Given the description of an element on the screen output the (x, y) to click on. 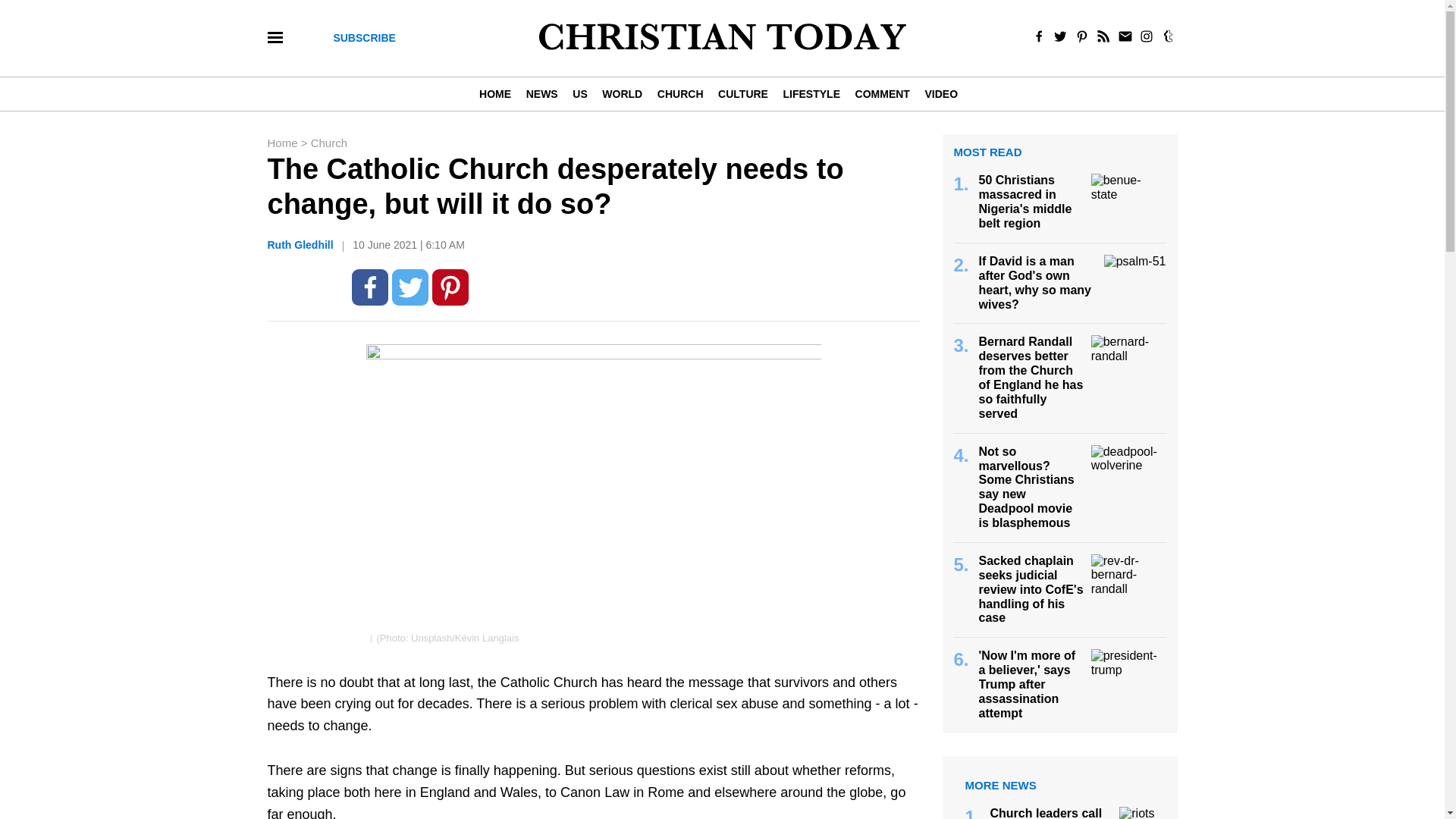
Home (282, 142)
WORLD (622, 93)
NEWS (542, 93)
SUBSCRIBE (363, 37)
HOME (498, 93)
LIFESTYLE (811, 93)
CULTURE (742, 93)
COMMENT (882, 93)
VIDEO (941, 93)
